Given the description of an element on the screen output the (x, y) to click on. 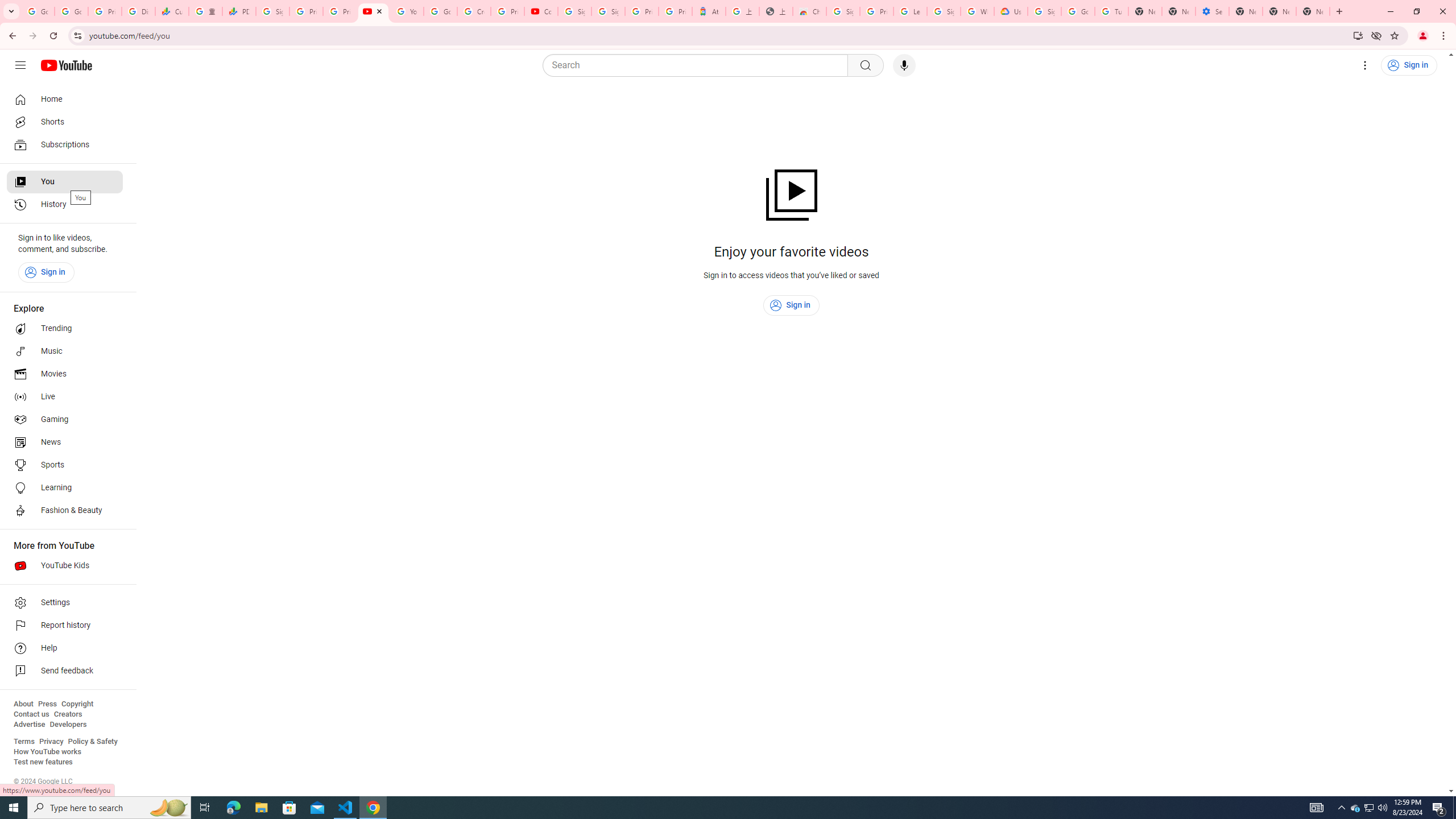
Sign in - Google Accounts (1043, 11)
How YouTube works (47, 751)
Creators (67, 714)
YouTube (406, 11)
Home (64, 99)
Subscriptions (64, 144)
New Tab (1313, 11)
